Given the description of an element on the screen output the (x, y) to click on. 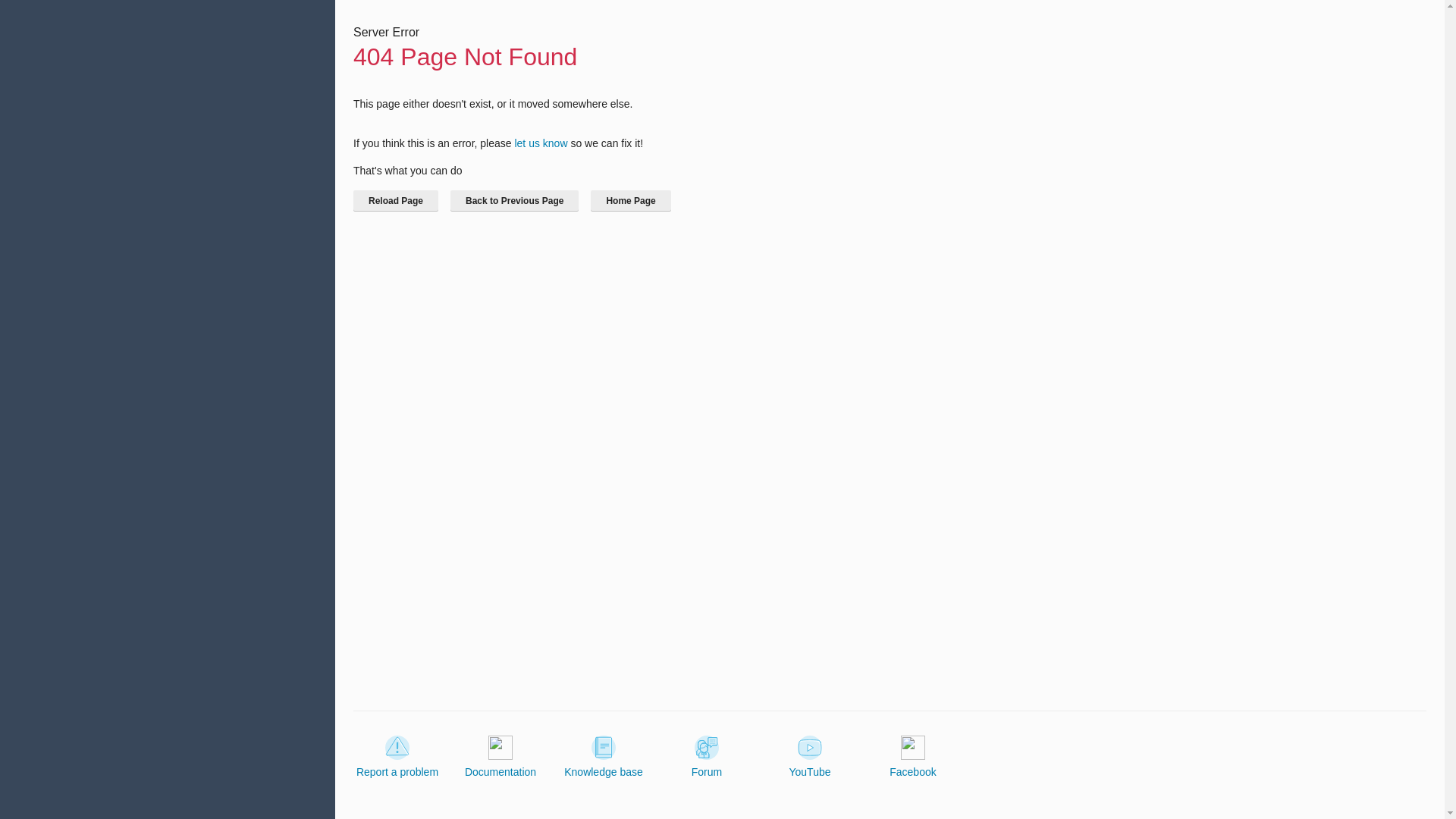
let us know (540, 143)
Home Page (630, 200)
Facebook (912, 757)
Report a problem (397, 757)
Forum (706, 757)
YouTube (809, 757)
Knowledge base (603, 757)
Documentation (500, 757)
Back to Previous Page (513, 200)
Reload Page (395, 200)
